Given the description of an element on the screen output the (x, y) to click on. 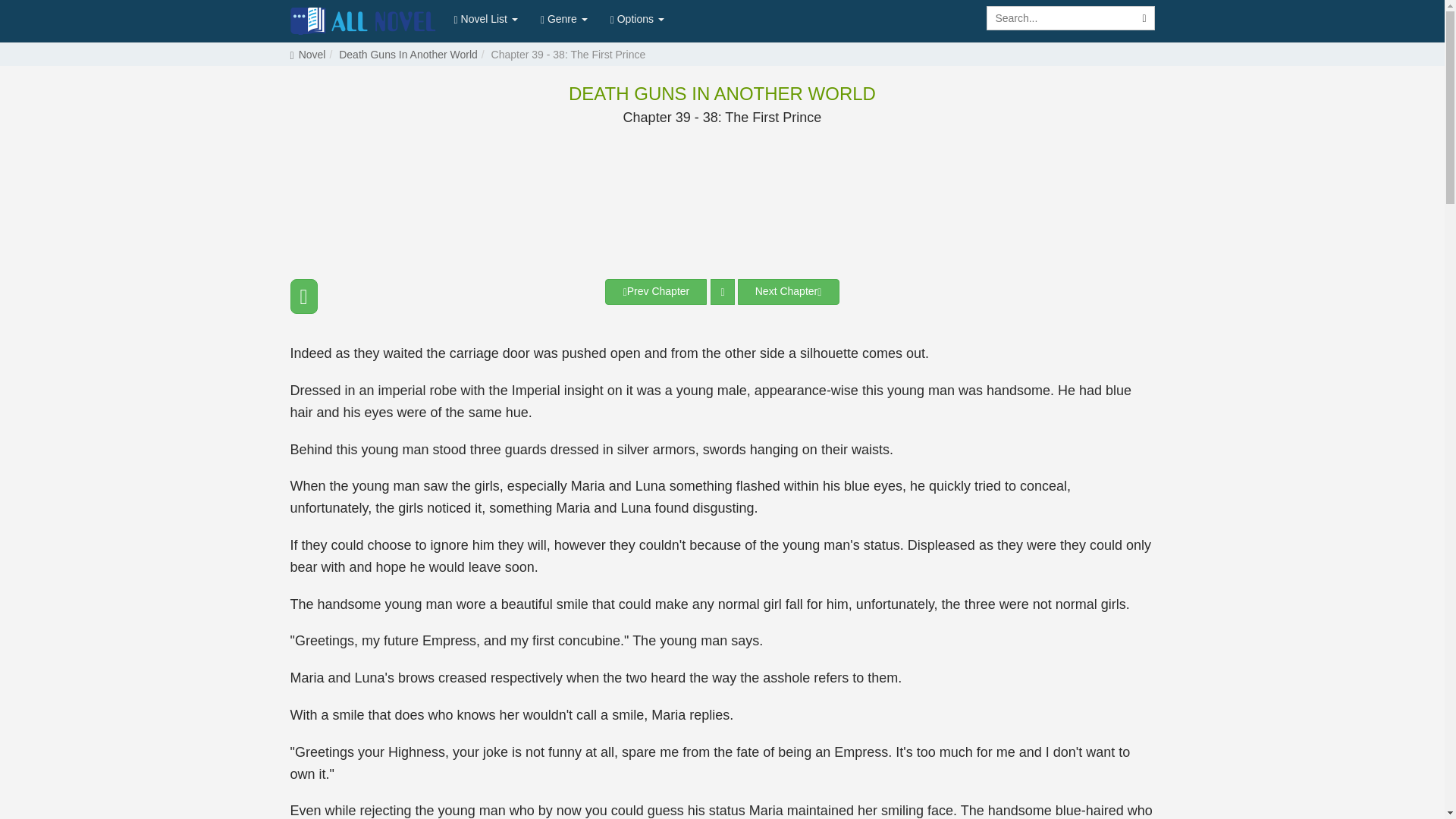
Genre (563, 18)
Novel List (485, 18)
Read novel online (363, 21)
